Given the description of an element on the screen output the (x, y) to click on. 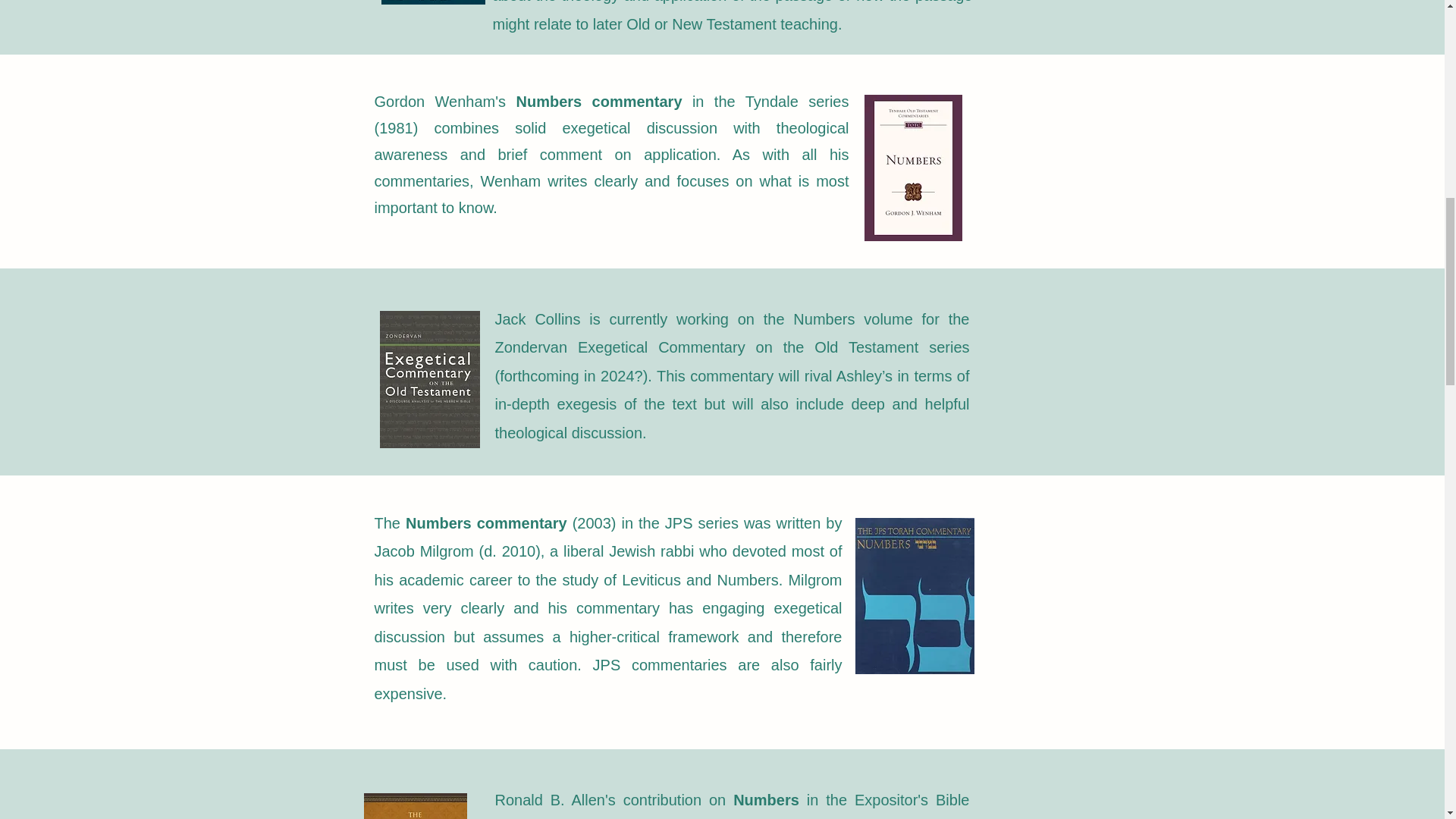
Numbers (766, 799)
Numbers commentary (486, 523)
Wenham commentary.jpg (432, 2)
Numbers commentary (598, 101)
